Given the description of an element on the screen output the (x, y) to click on. 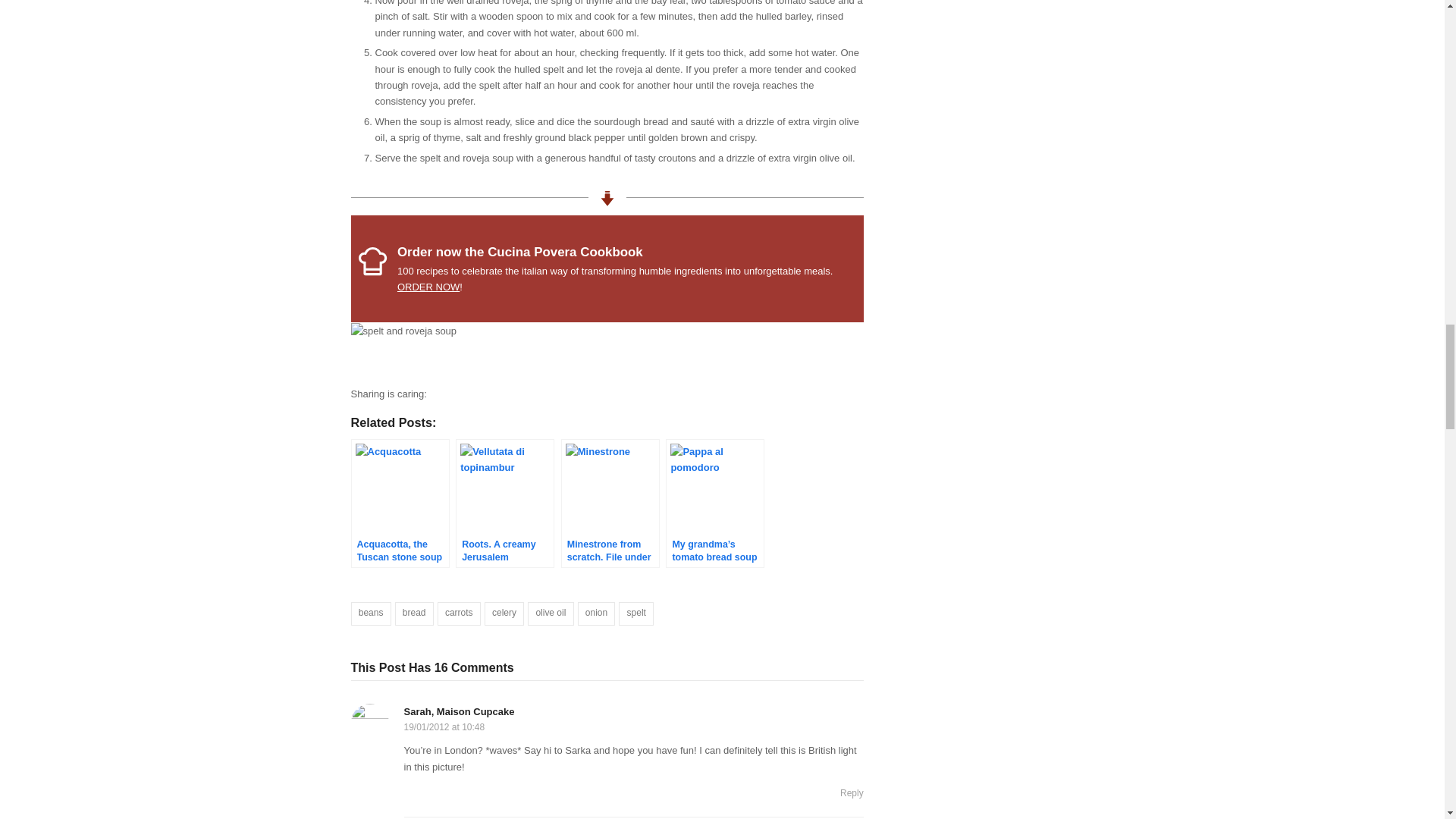
spelt and roveja soup (403, 330)
